Given the description of an element on the screen output the (x, y) to click on. 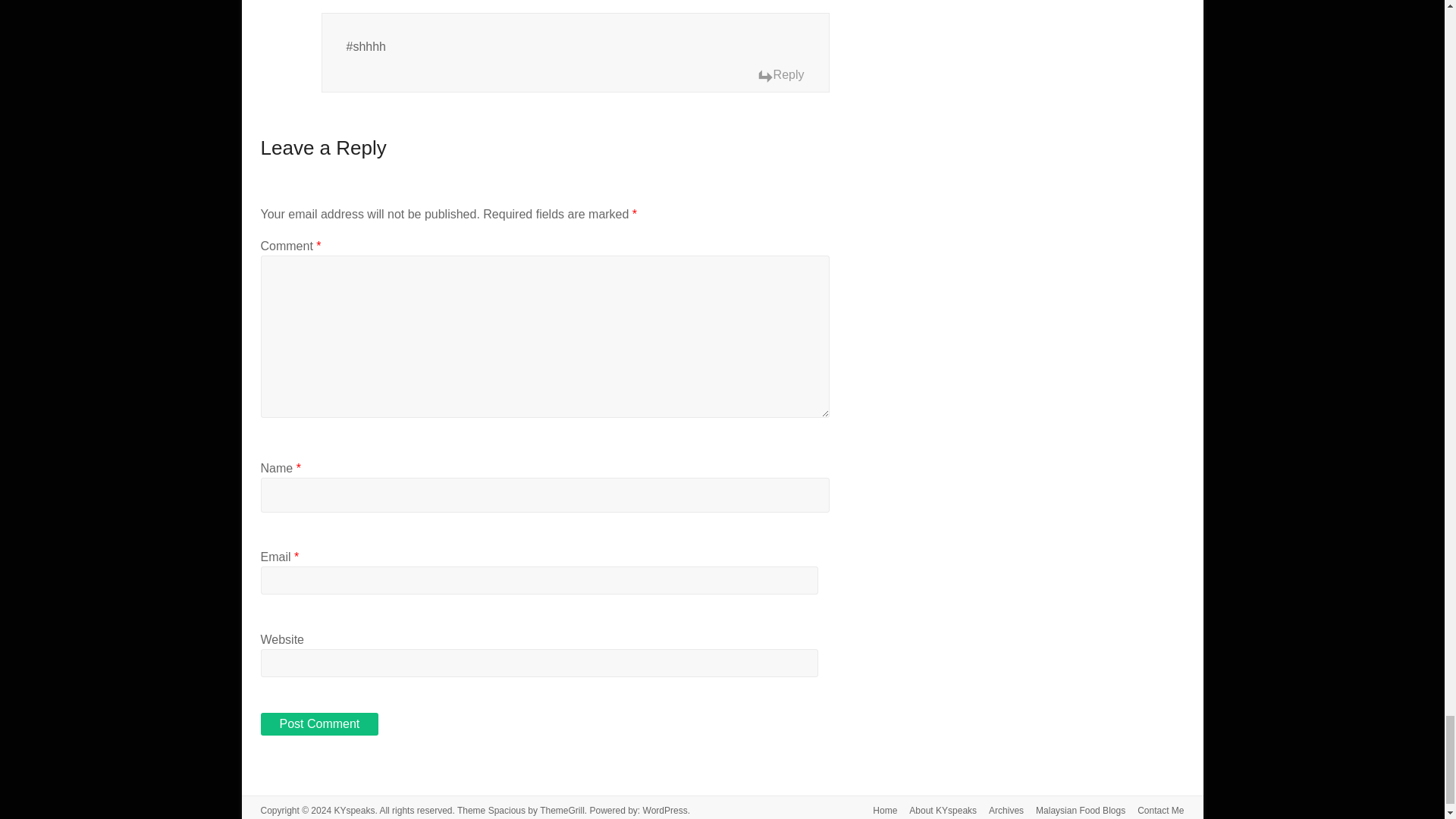
Post Comment (319, 723)
KYspeaks (353, 810)
WordPress (665, 810)
Spacious (506, 810)
